Given the description of an element on the screen output the (x, y) to click on. 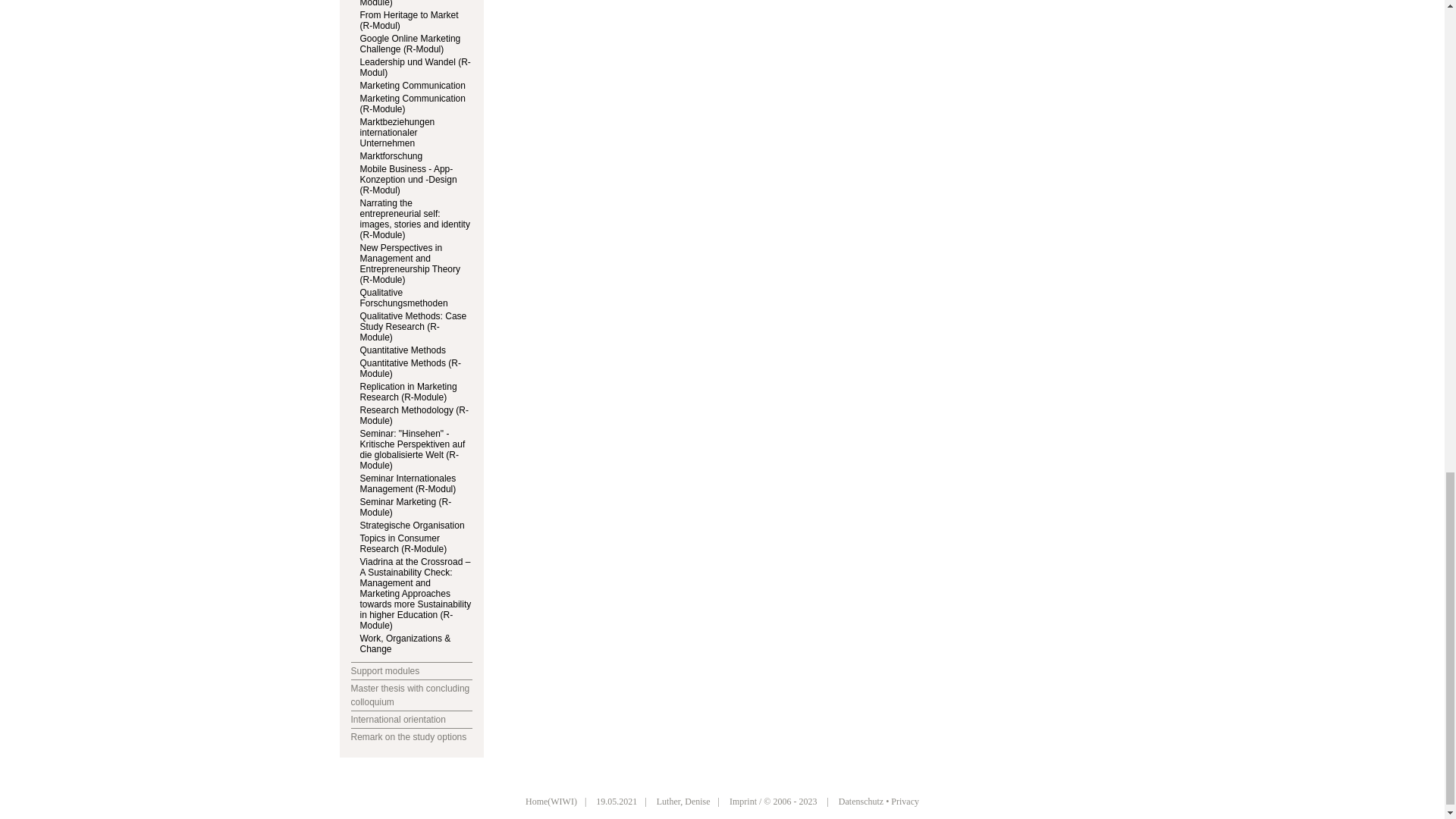
Home (550, 801)
